Given the description of an element on the screen output the (x, y) to click on. 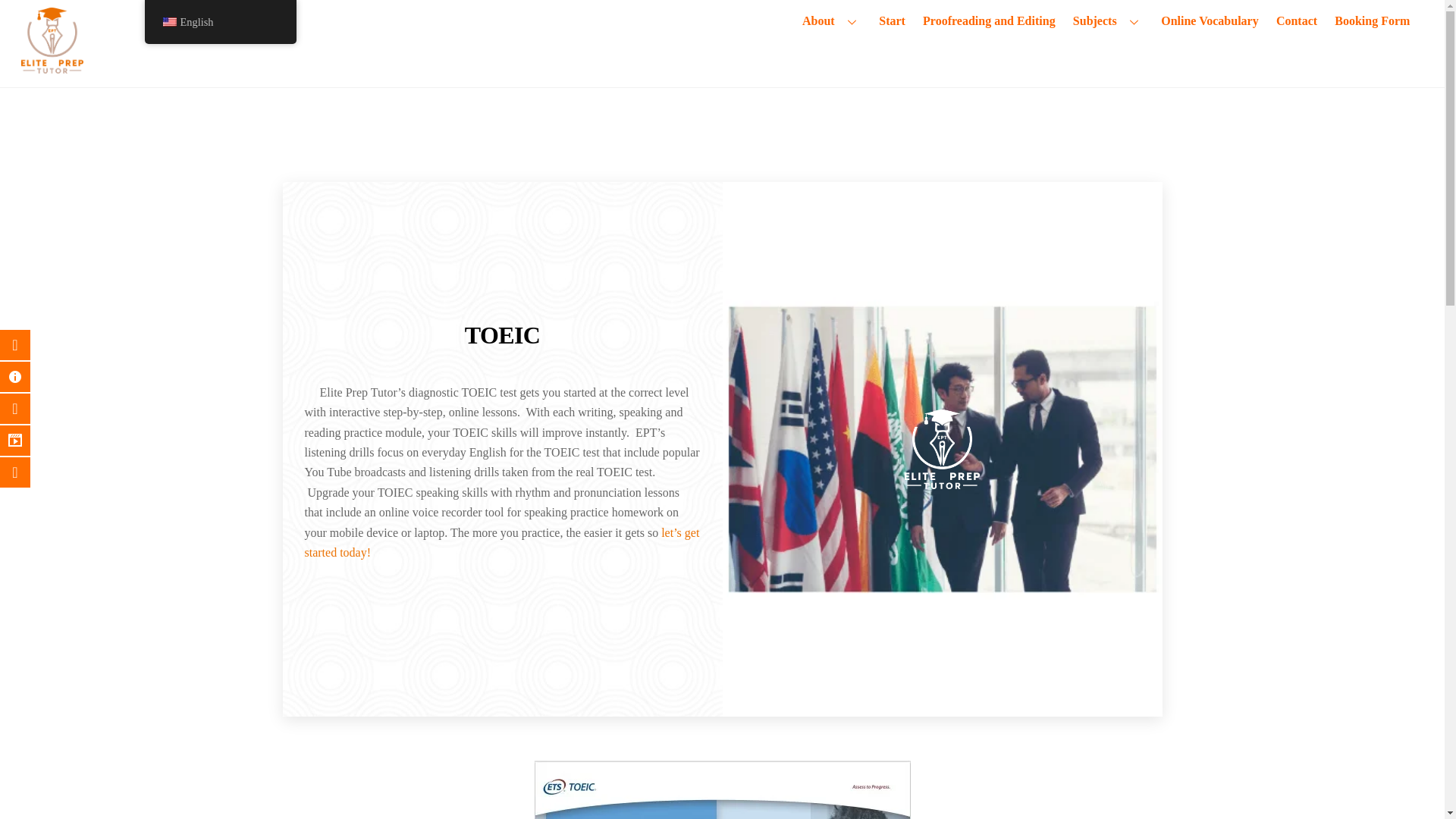
Booking Form (1371, 21)
TOEIC (941, 448)
About (830, 21)
Contact (1295, 21)
English (168, 21)
Elite Prep Tutor (51, 66)
Online Vocabulary (1210, 21)
Proofreading and Editing (988, 21)
TOEIC (722, 789)
